Given the description of an element on the screen output the (x, y) to click on. 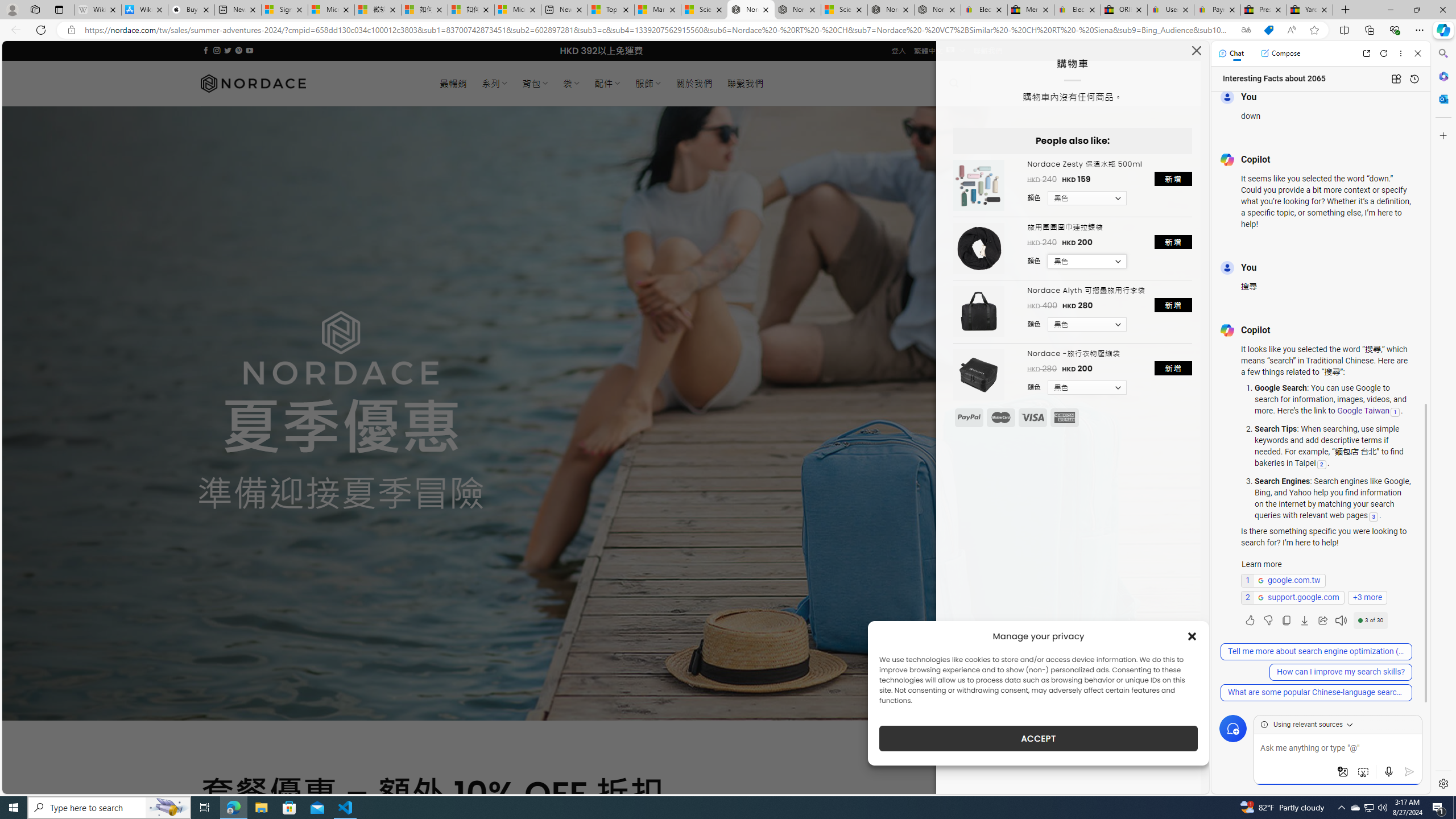
Follow on Pinterest (237, 50)
Close (Esc) (1195, 53)
Electronics, Cars, Fashion, Collectibles & More | eBay (1077, 9)
Press Room - eBay Inc. (1263, 9)
 0  (988, 83)
Marine life - MSN (656, 9)
